Given the description of an element on the screen output the (x, y) to click on. 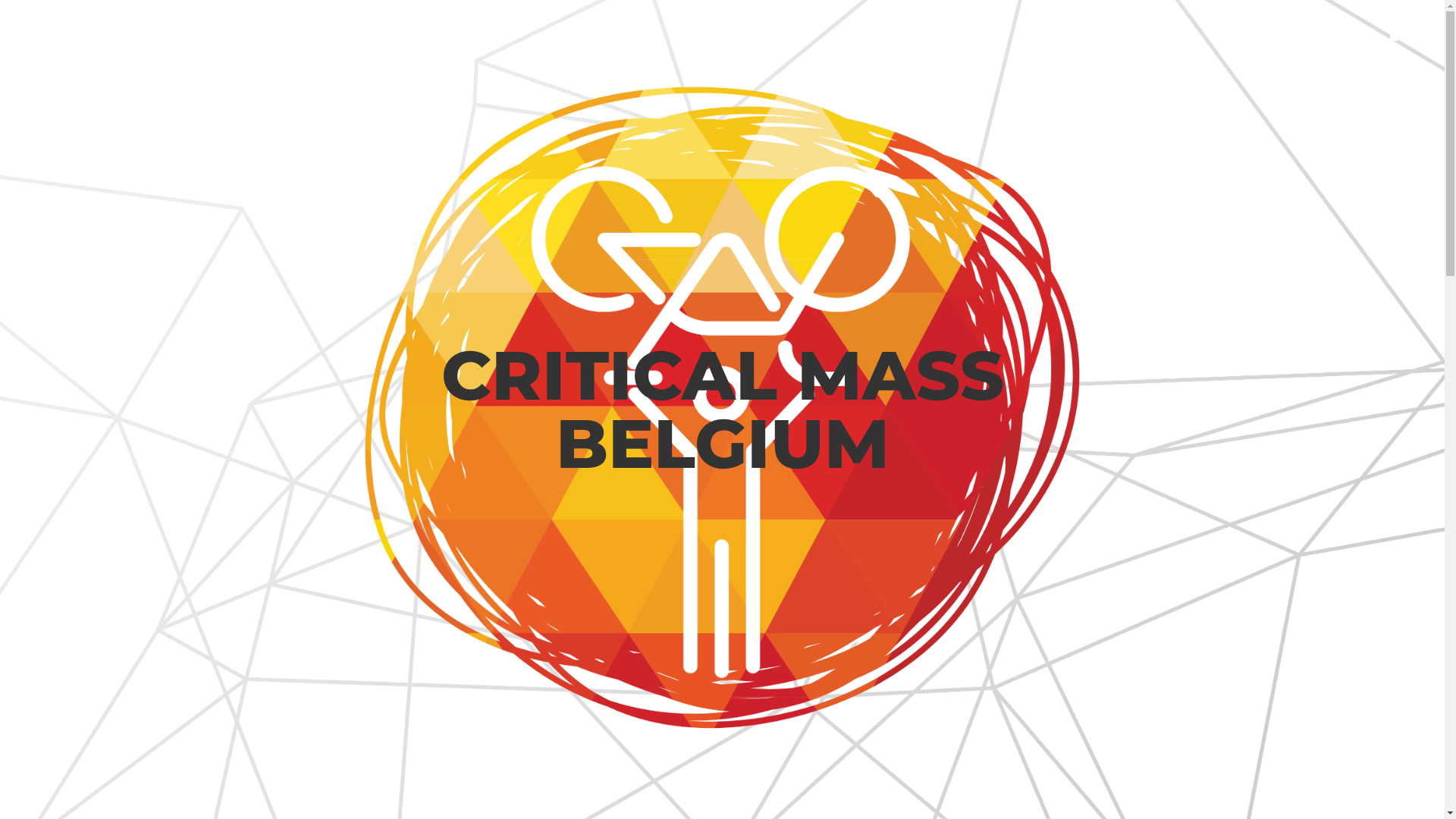
HOME Element type: text (1347, 30)
